Given the description of an element on the screen output the (x, y) to click on. 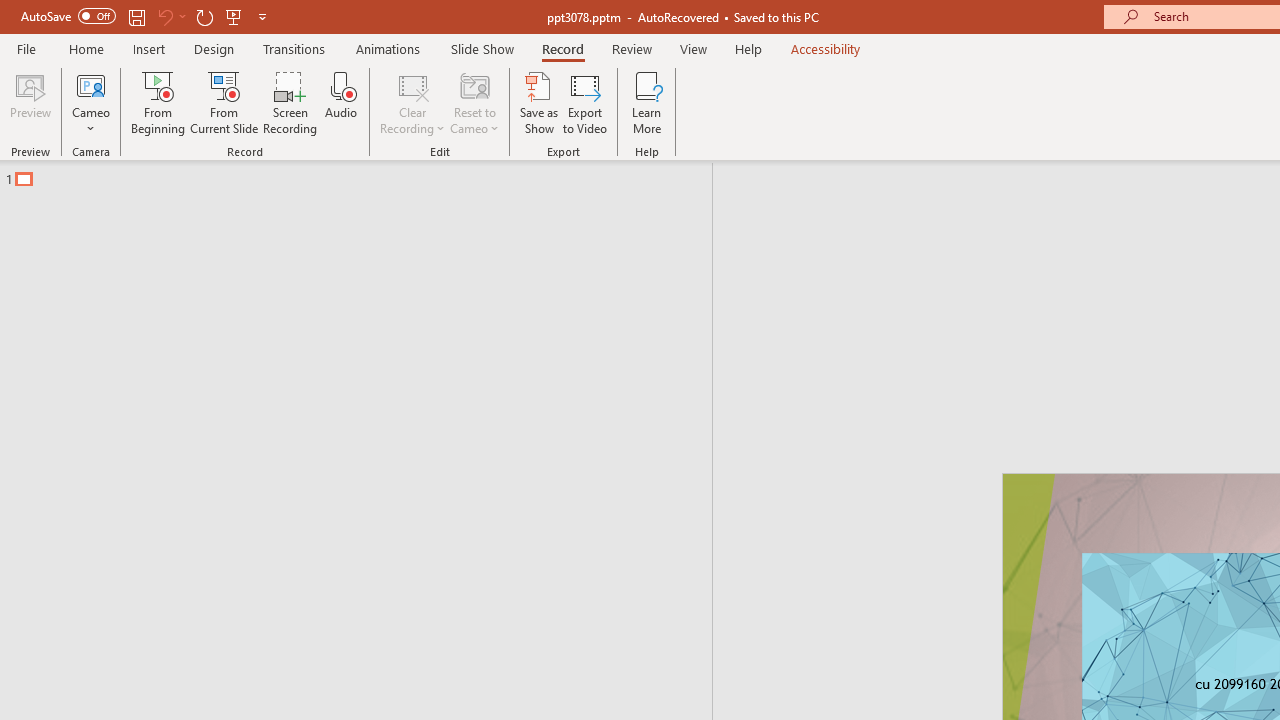
From Beginning... (158, 102)
Screen Recording (290, 102)
From Current Slide... (224, 102)
Clear Recording (412, 102)
